Given the description of an element on the screen output the (x, y) to click on. 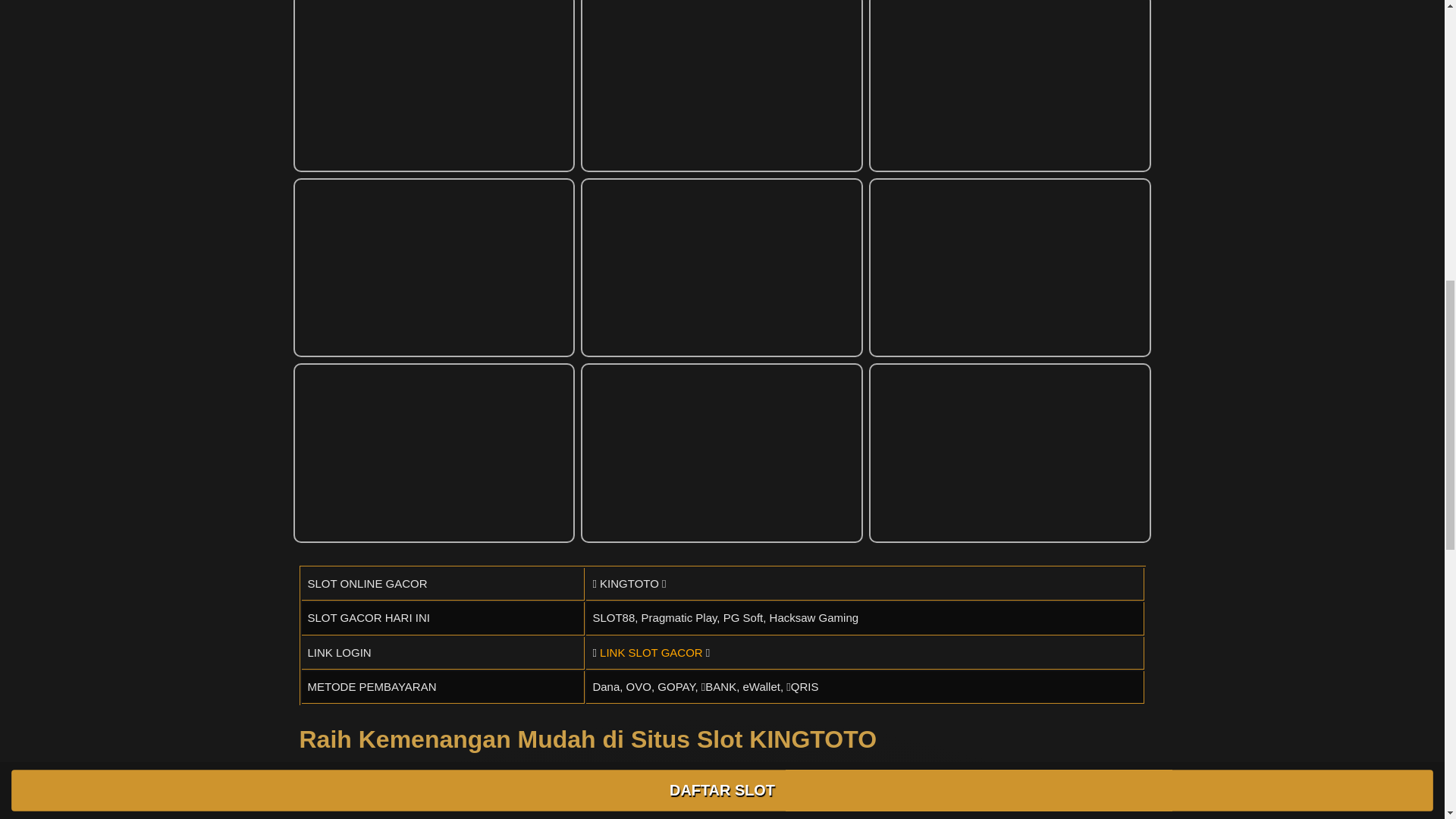
LINK SLOT GACOR (651, 652)
